Given the description of an element on the screen output the (x, y) to click on. 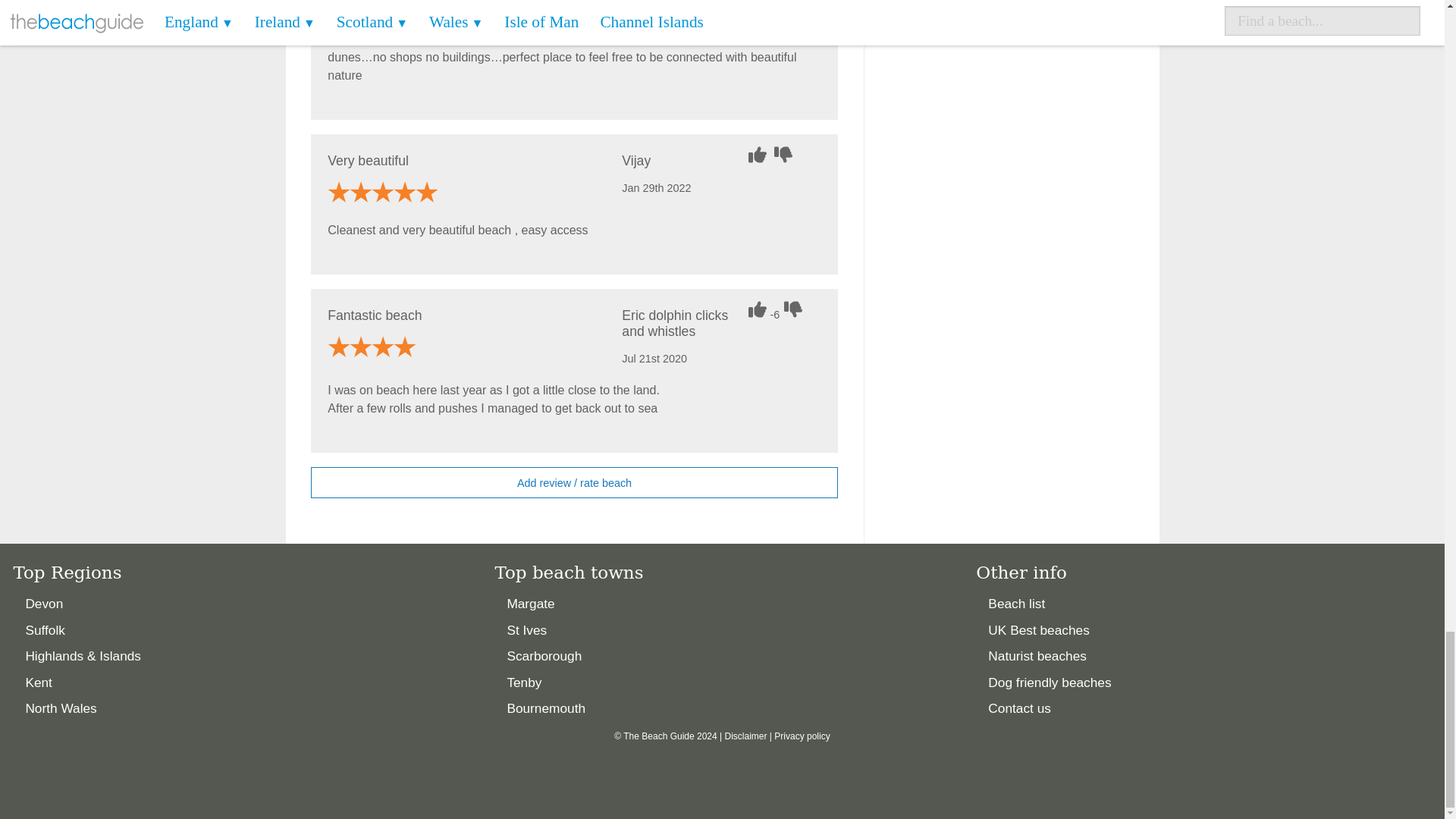
Vote up (759, 309)
Vote up (759, 154)
Vote down (795, 309)
Vote down (785, 154)
